Given the description of an element on the screen output the (x, y) to click on. 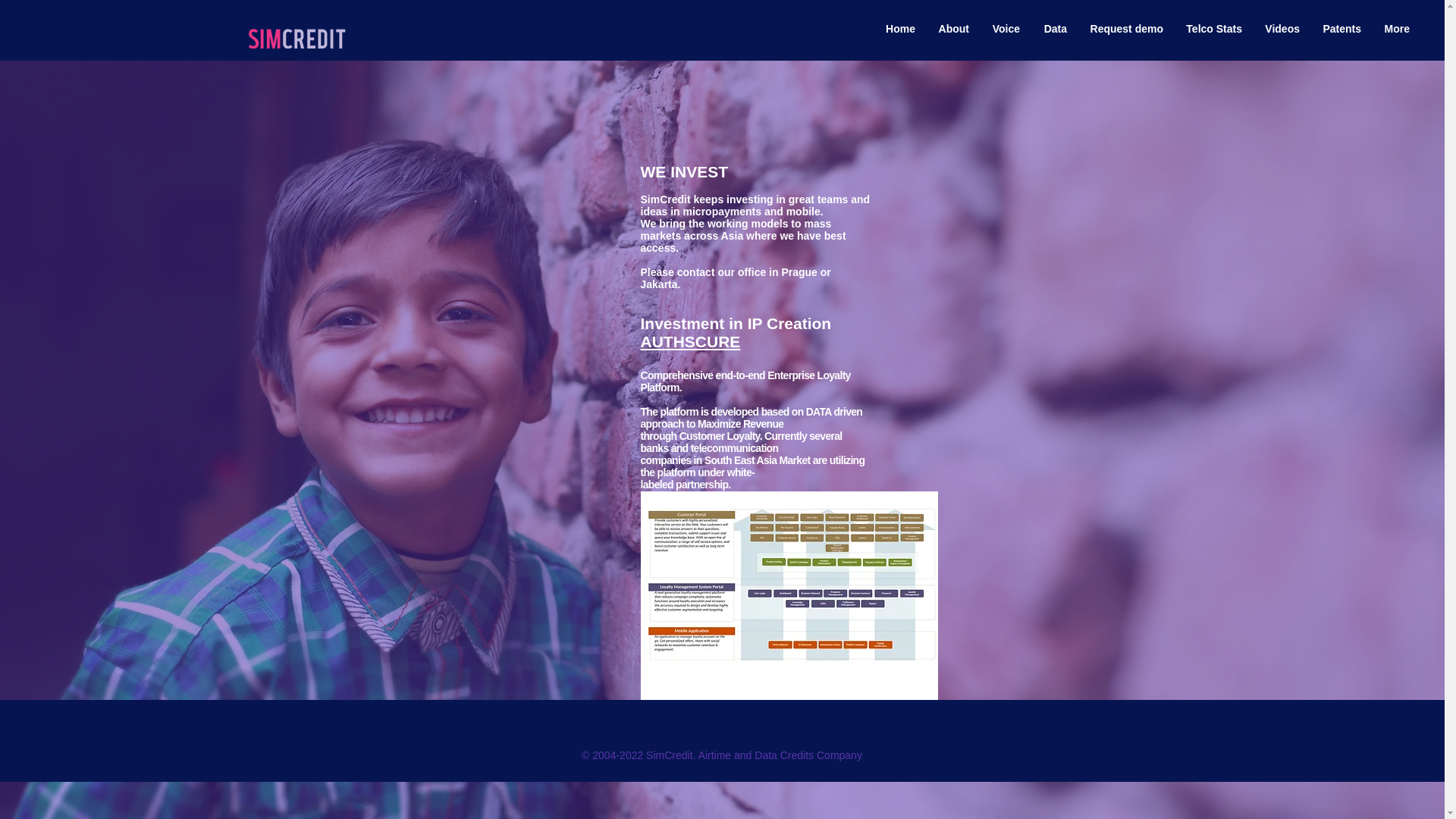
About (952, 28)
Voice (1004, 28)
Home (899, 28)
Data (1054, 28)
Request demo (1126, 28)
Patents (1342, 28)
Videos (1282, 28)
AUTHSCURE (689, 341)
Telco Stats (1213, 28)
